Given the description of an element on the screen output the (x, y) to click on. 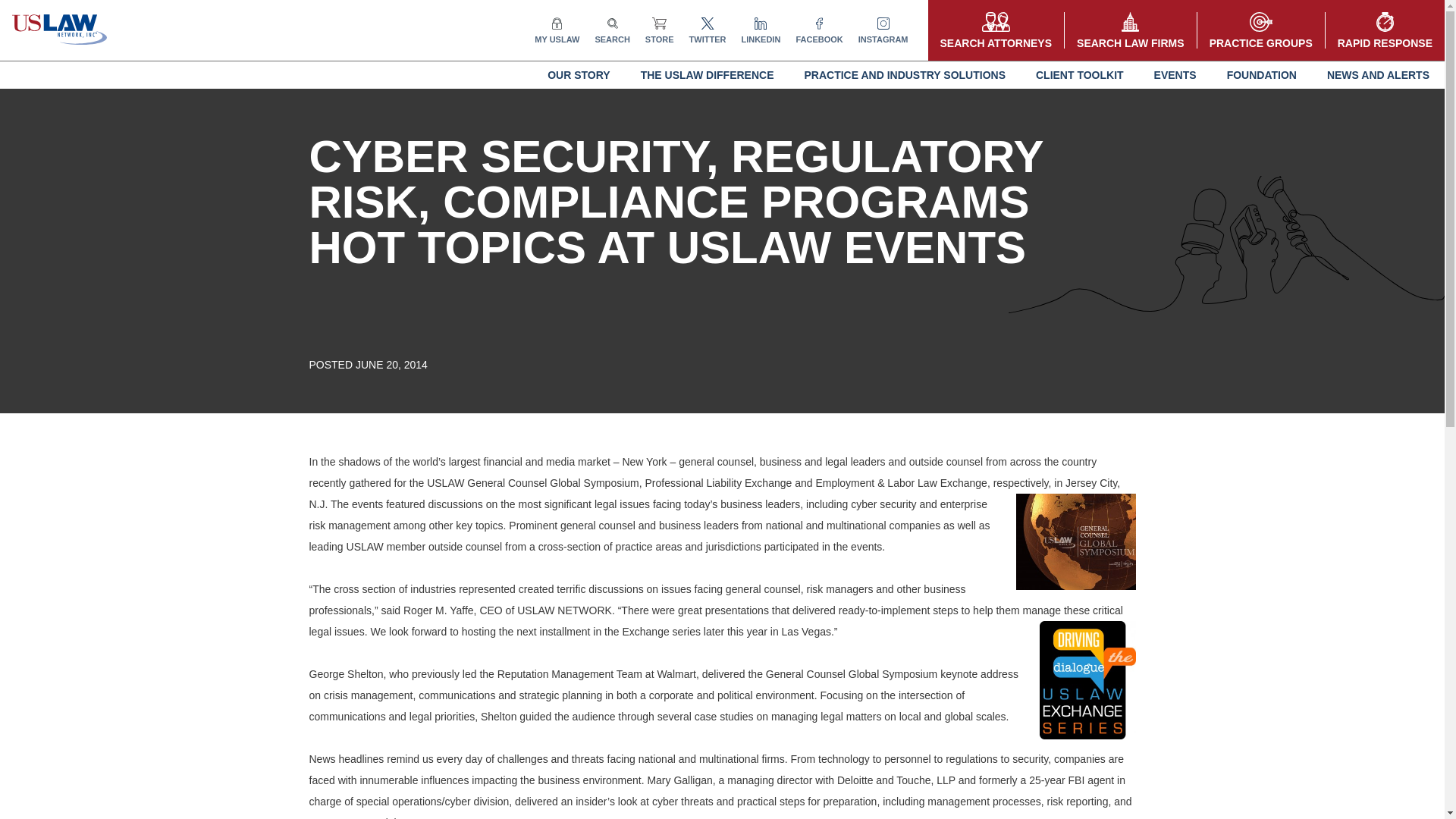
INSTAGRAM (883, 29)
THE USLAW DIFFERENCE (707, 74)
SEARCH ATTORNEYS (996, 30)
SEARCH LAW FIRMS (1130, 30)
TWITTER (707, 29)
MY USLAW (556, 29)
PRACTICE GROUPS (1260, 30)
OUR STORY (578, 74)
EVENTS (1174, 74)
PRACTICE AND INDUSTRY SOLUTIONS (904, 74)
